Given the description of an element on the screen output the (x, y) to click on. 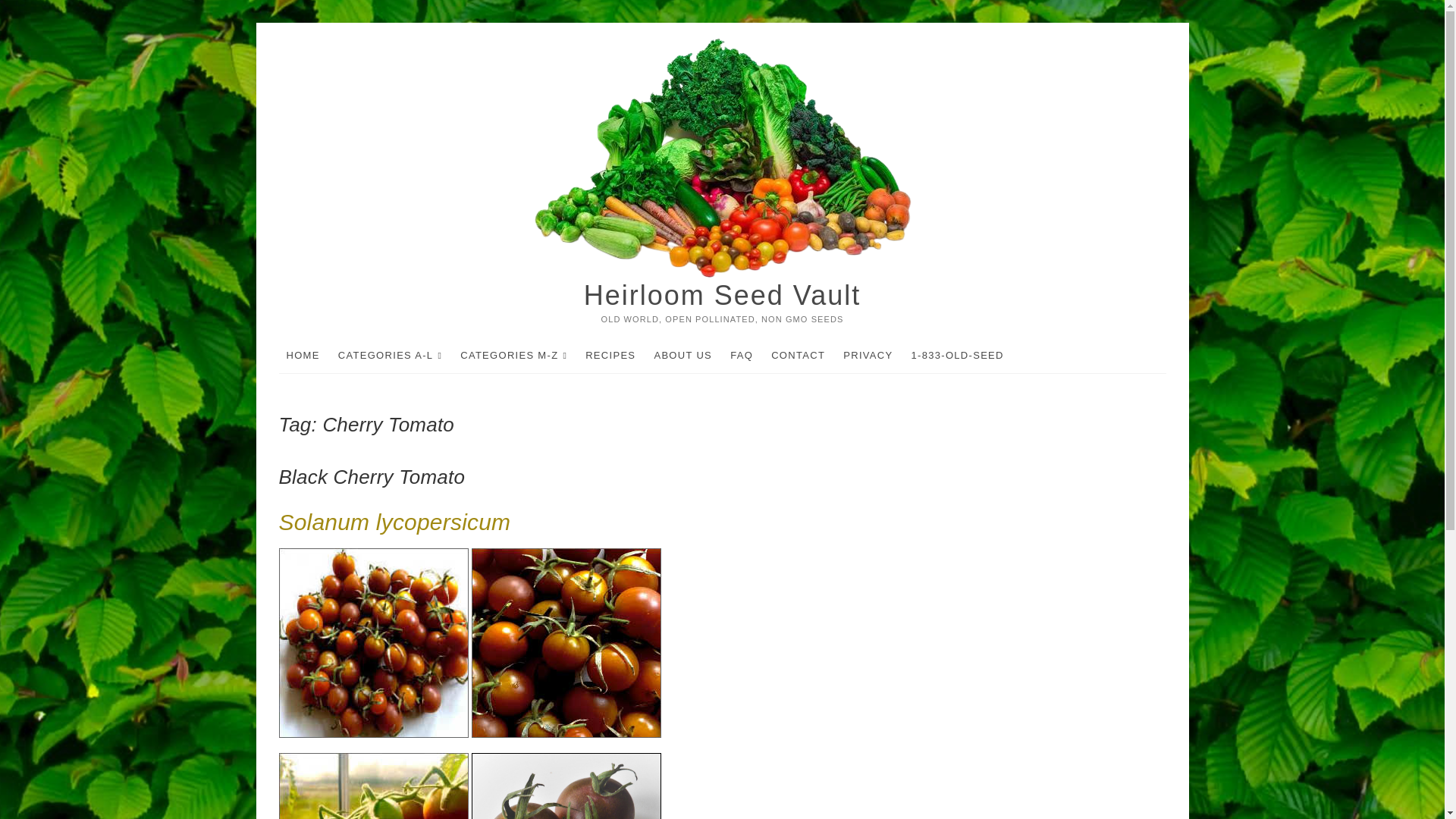
Black Cherry Tomato (372, 477)
Heirloom Seed Vault (722, 295)
CATEGORIES A-L (389, 355)
HOME (303, 355)
CATEGORIES M-Z (513, 355)
Heirloom Seed Vault (722, 295)
